Given the description of an element on the screen output the (x, y) to click on. 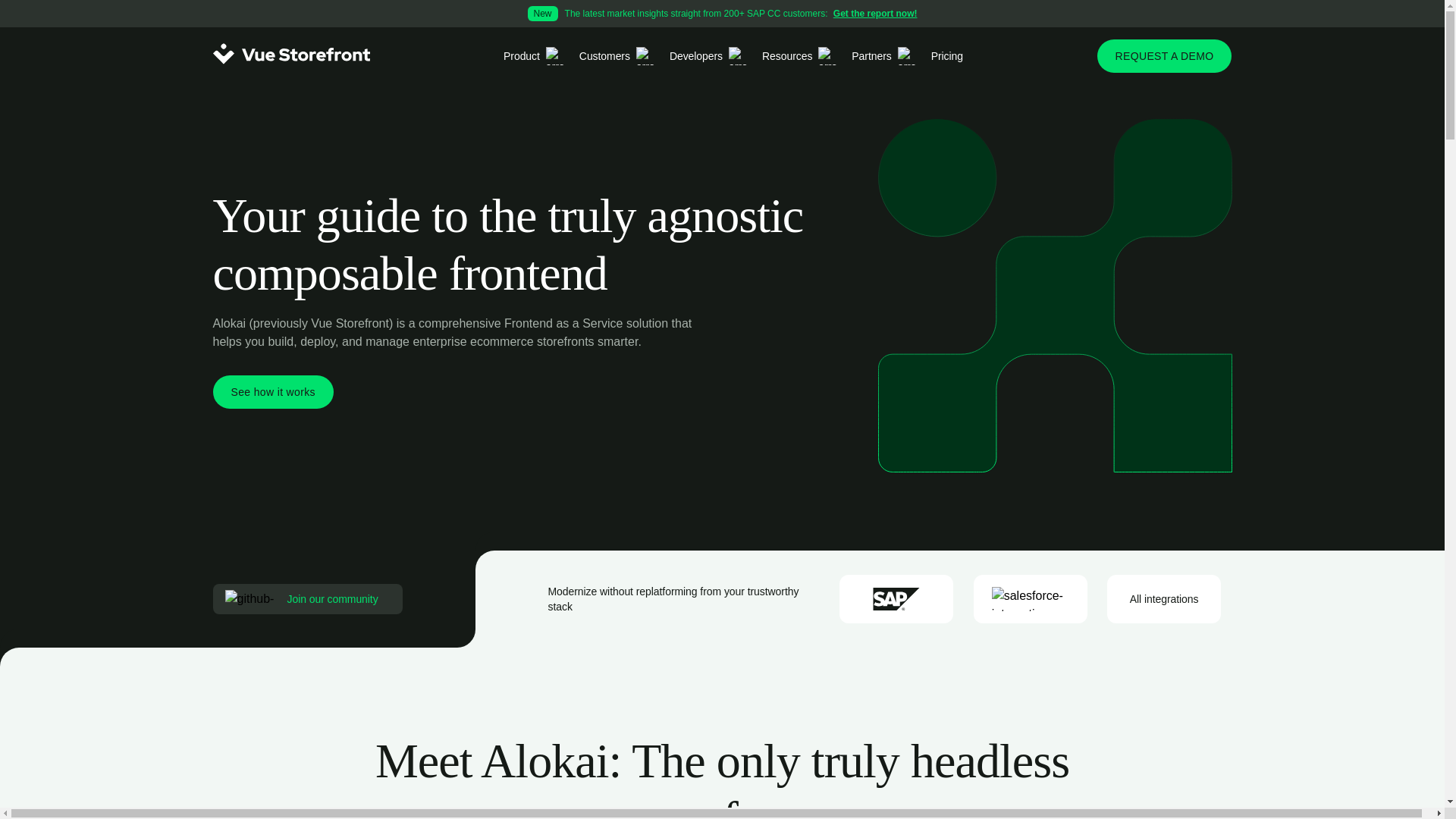
Customers (615, 55)
Get the report now! (722, 13)
Resources (797, 55)
Product (532, 55)
Developers (706, 55)
